Given the description of an element on the screen output the (x, y) to click on. 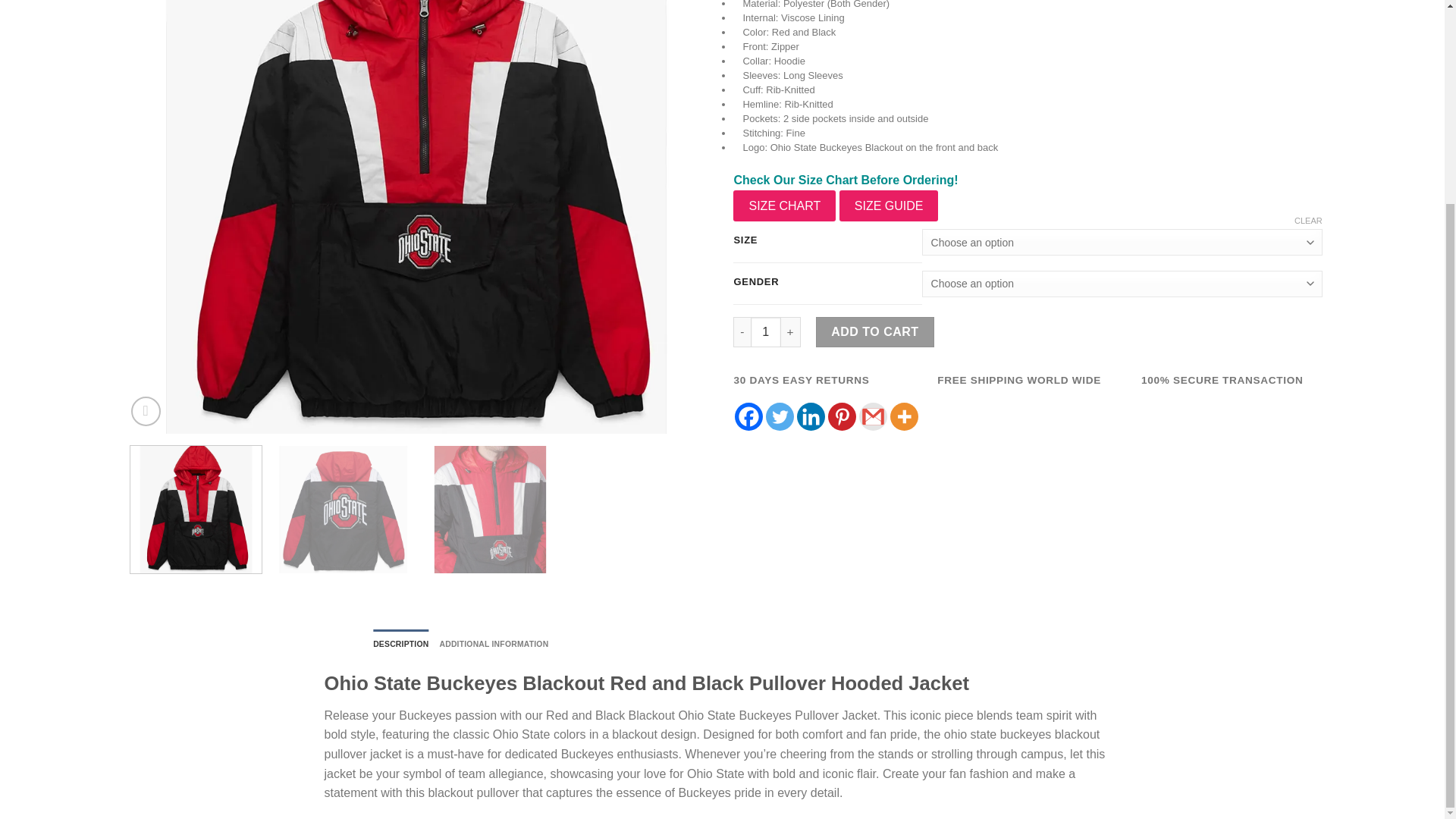
SIZE GUIDE (889, 205)
SIZE CHART (784, 205)
CLEAR (1308, 220)
1 (765, 331)
Zoom (145, 410)
